Given the description of an element on the screen output the (x, y) to click on. 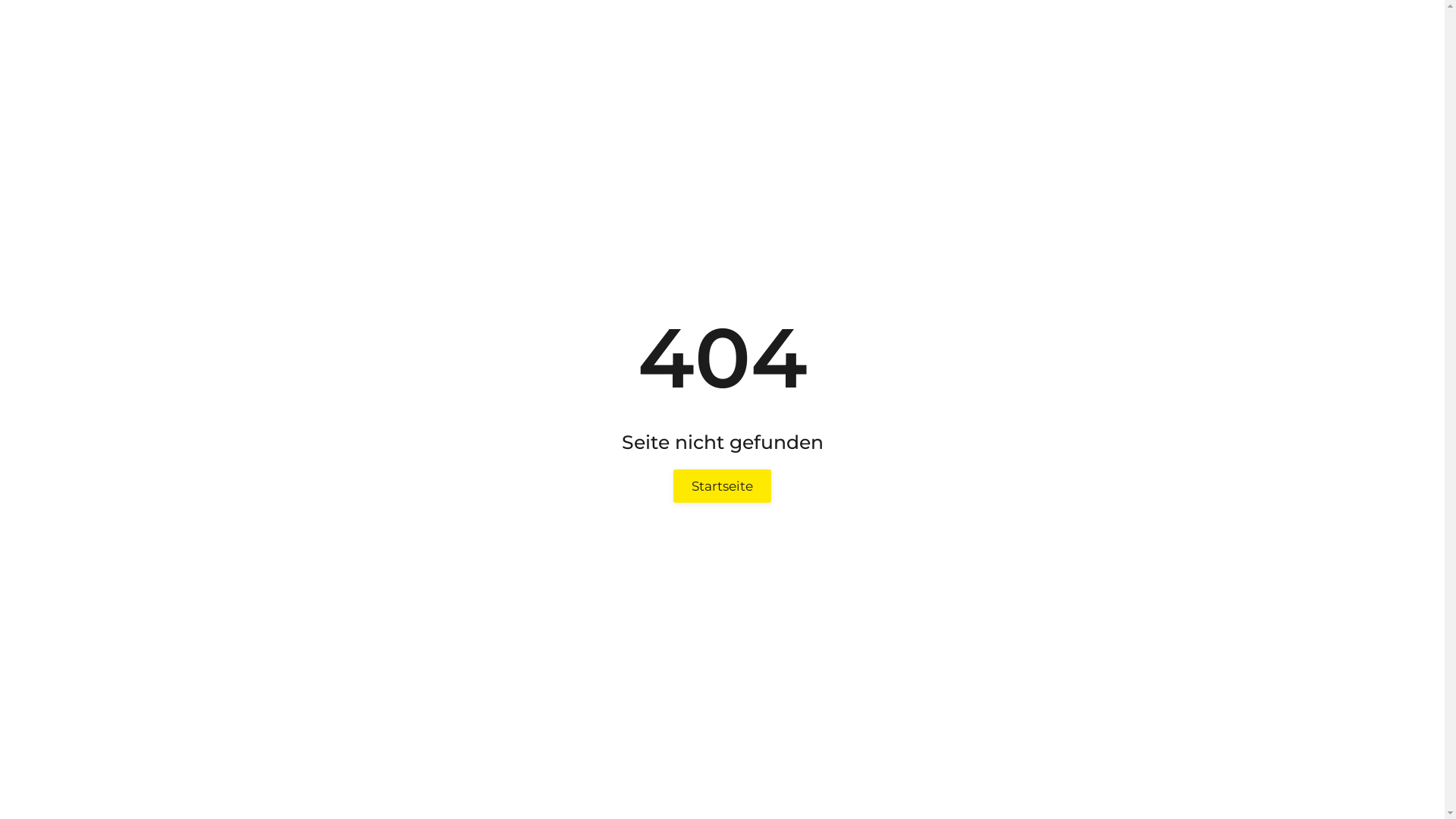
Startseite Element type: text (722, 485)
